Given the description of an element on the screen output the (x, y) to click on. 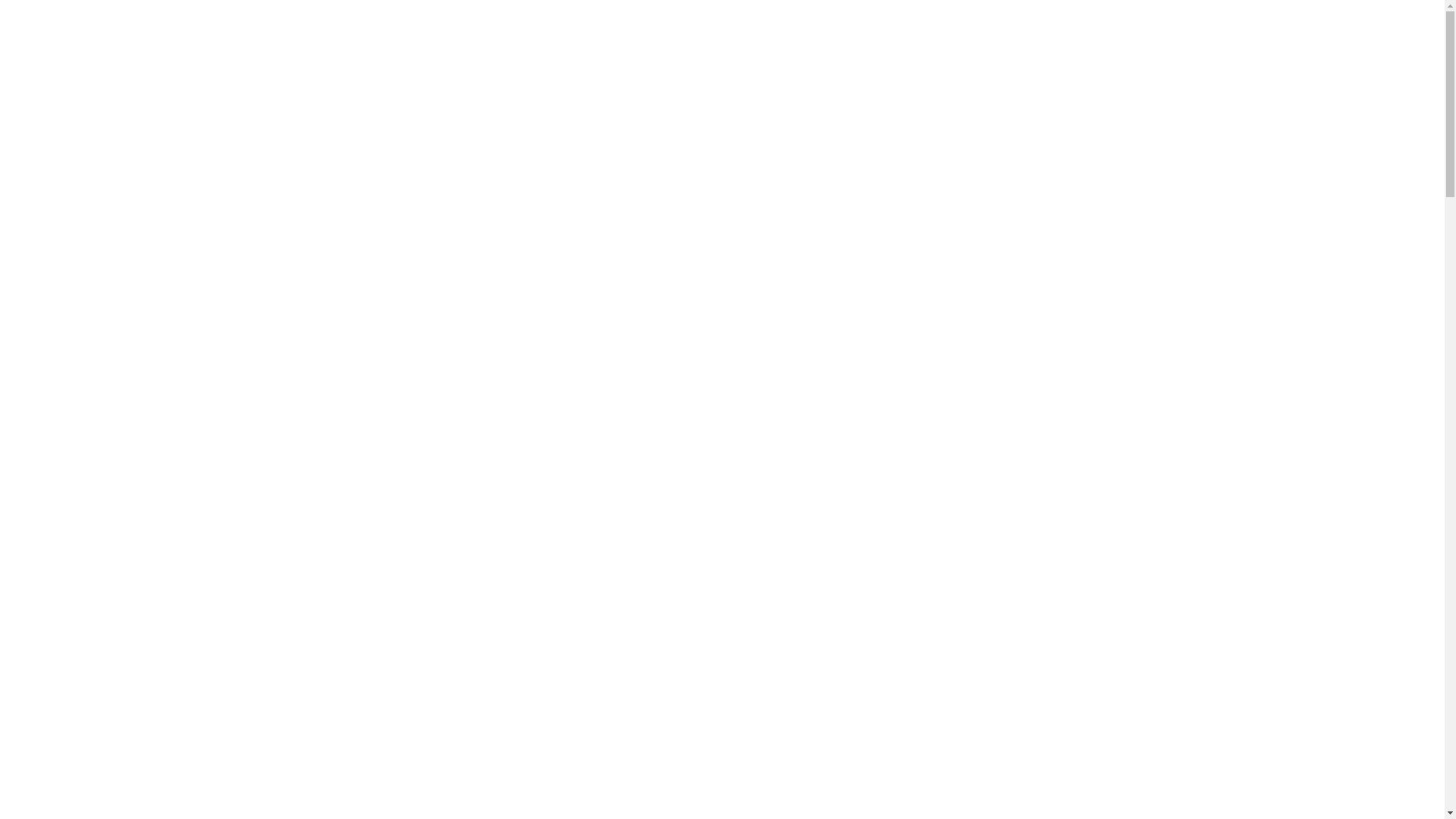
BOTTOM Element type: text (300, 666)
site search Element type: text (61, 596)
OUTER Element type: text (69, 188)
COMMUNITY Element type: text (84, 311)
BOTTOM Element type: text (73, 243)
DRESS Element type: text (215, 666)
NEW Element type: text (35, 666)
TOP Element type: text (61, 202)
JOIN Element type: text (242, 372)
TOP Element type: text (173, 666)
OUTER Element type: text (131, 666)
REVIEW Element type: text (492, 666)
SHOES & BAG Element type: text (86, 256)
LOGIN Element type: text (241, 352)
Alarm Element type: text (1409, 23)
DRESS Element type: text (68, 216)
SHOES & BAG Element type: text (368, 666)
COMMUNITY Element type: text (557, 666)
site search Element type: text (260, 642)
NEW Element type: text (63, 161)
REVIEW Element type: text (71, 297)
